Given the description of an element on the screen output the (x, y) to click on. 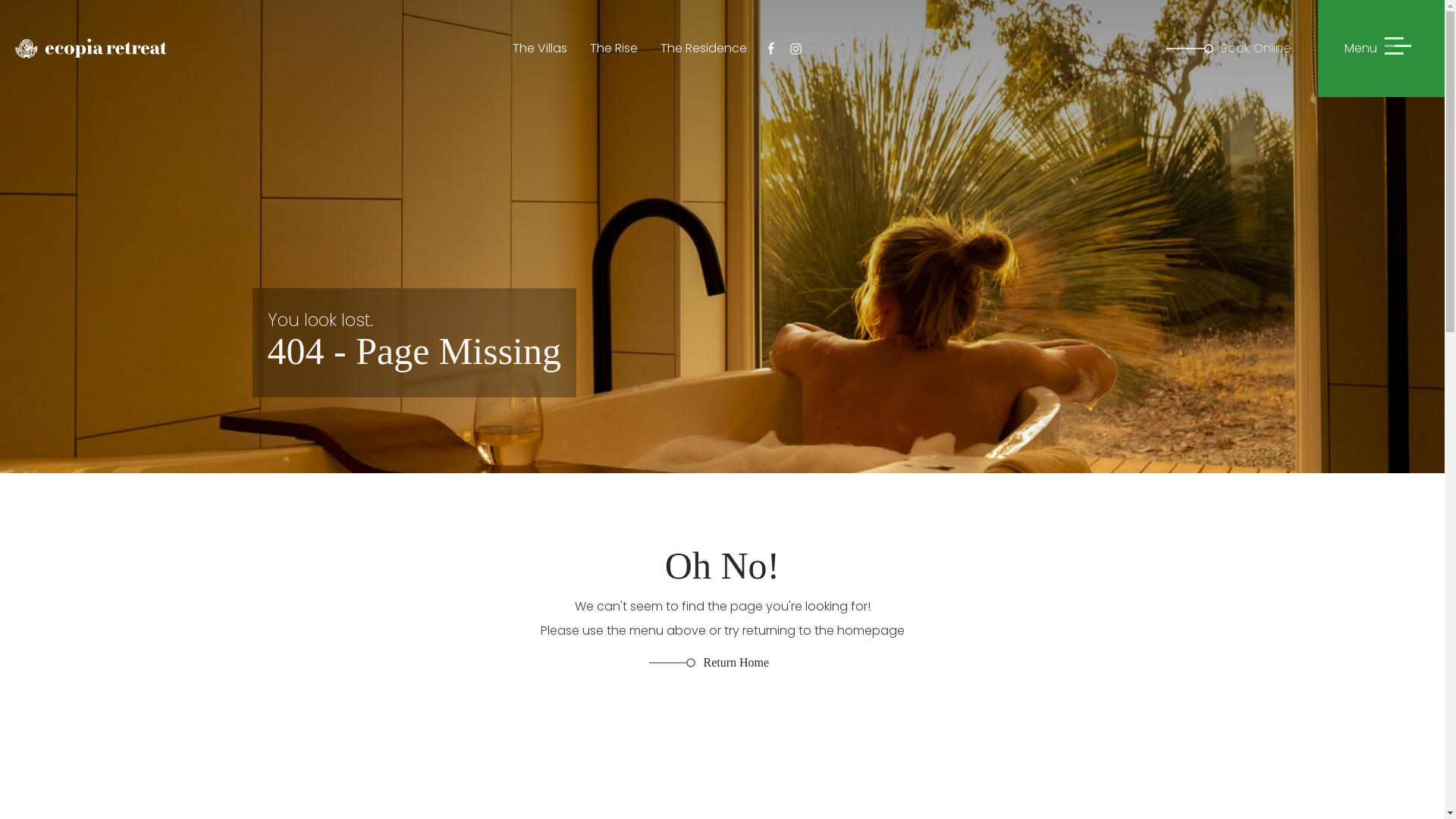
Return Home Element type: text (708, 662)
Book Online Element type: text (1241, 48)
Menu Element type: text (1380, 48)
The Residence Element type: text (703, 48)
The Villas Element type: text (539, 48)
The Rise Element type: text (613, 48)
